Given the description of an element on the screen output the (x, y) to click on. 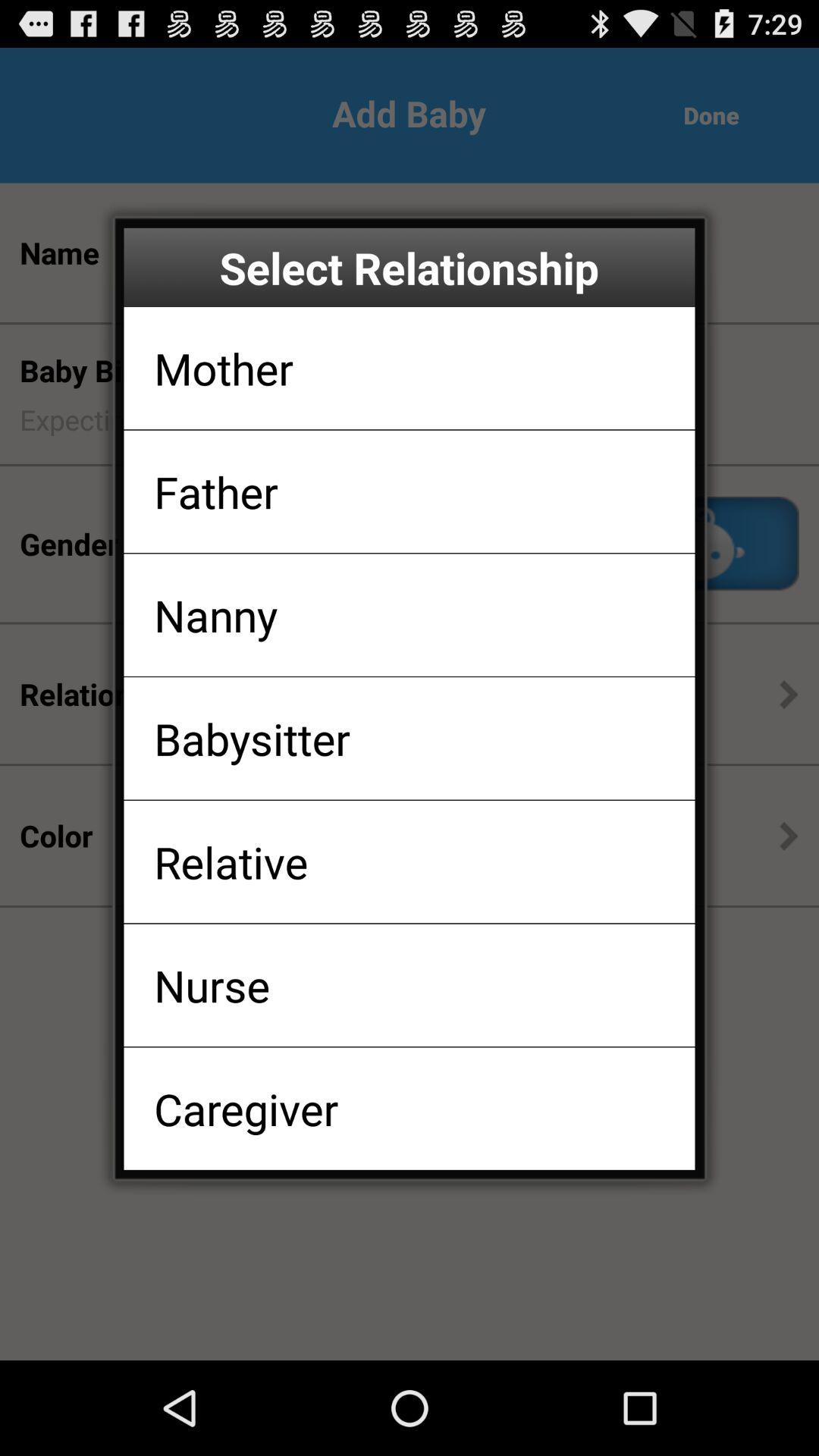
press the nurse app (212, 985)
